Given the description of an element on the screen output the (x, y) to click on. 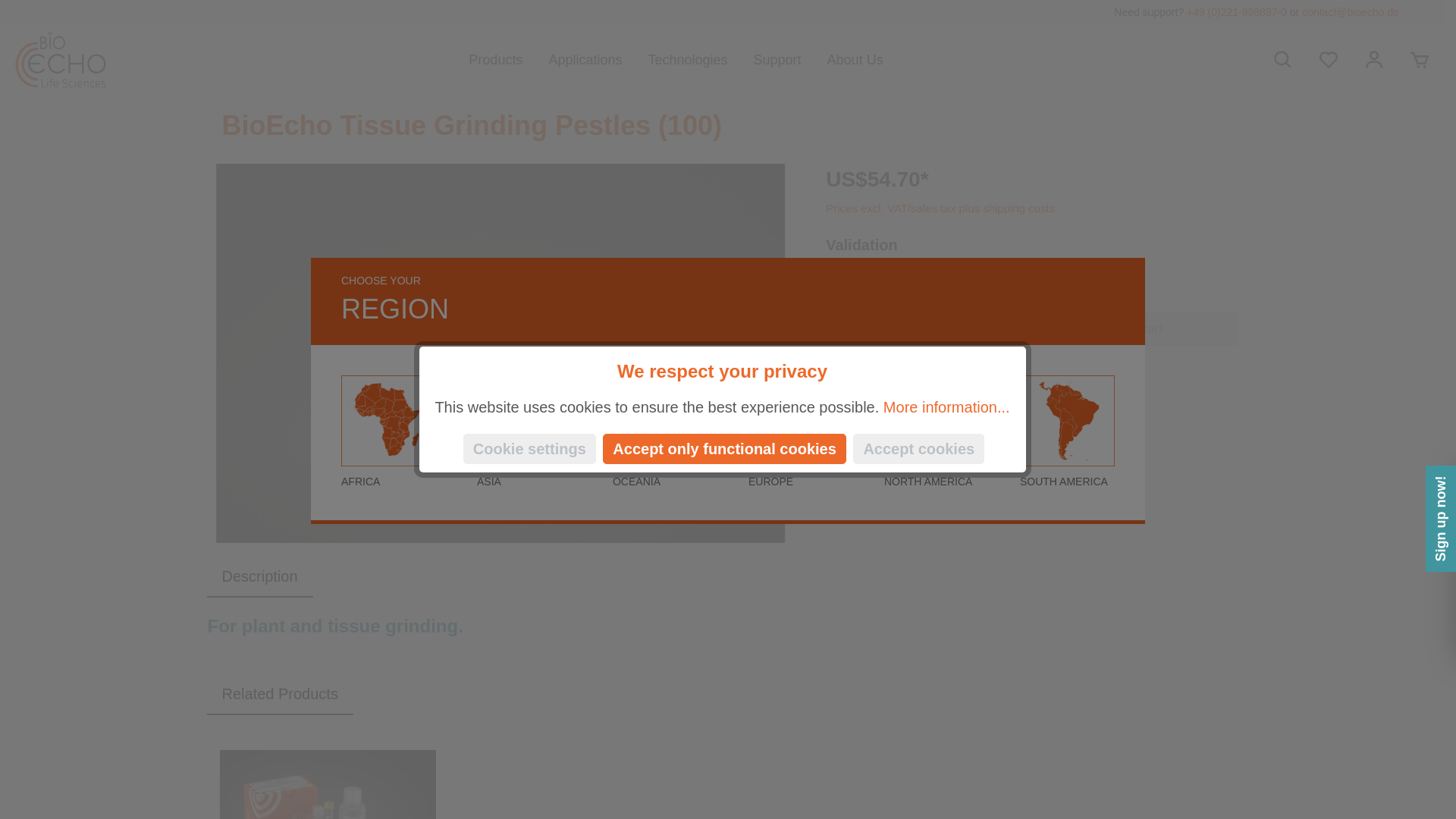
Technologies (699, 59)
Go to homepage (60, 59)
Applications (597, 59)
Products (508, 59)
Technologies (699, 59)
About Us (867, 59)
Support (790, 59)
